Given the description of an element on the screen output the (x, y) to click on. 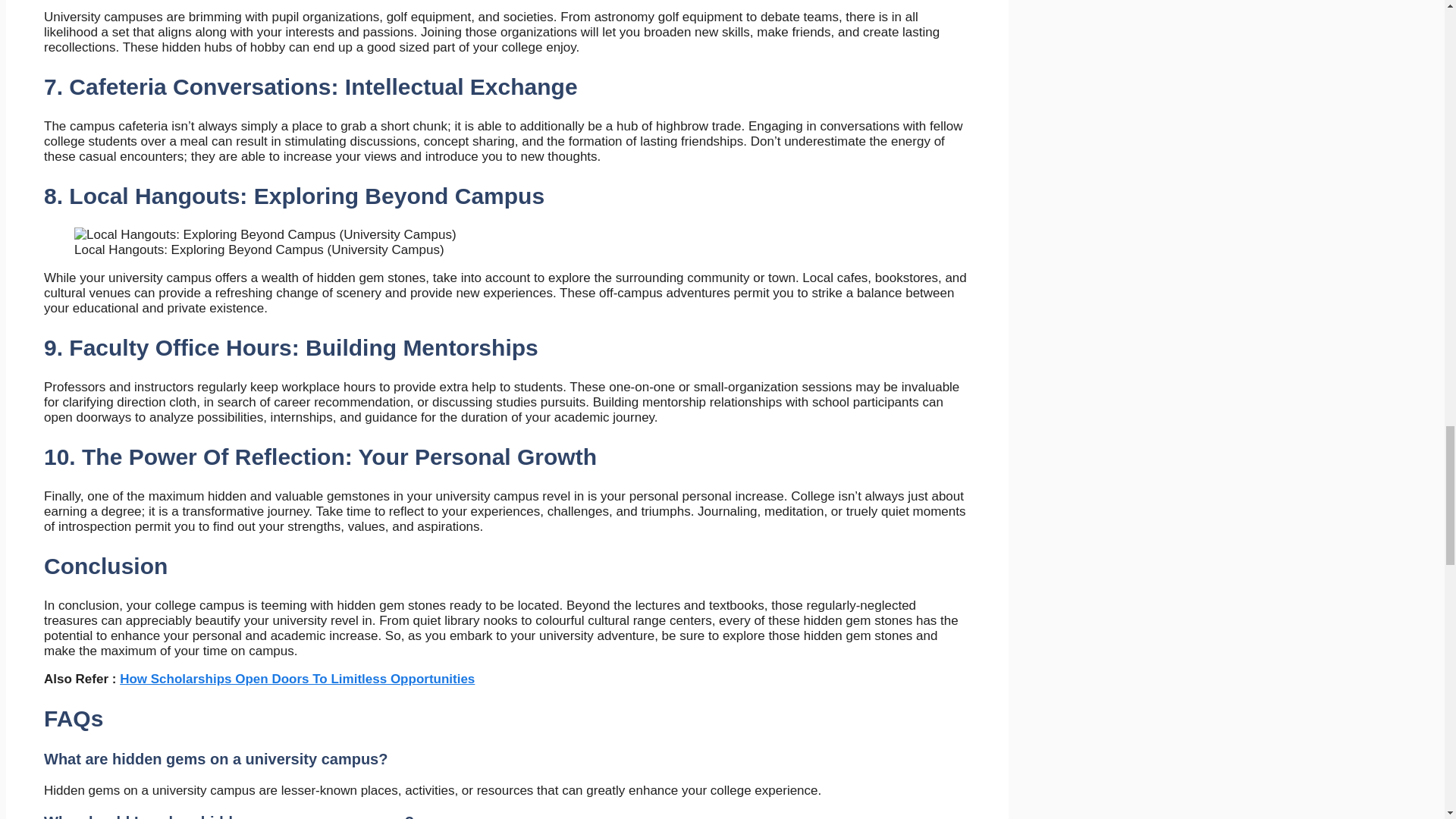
How Scholarships Open Doors To Limitless Opportunities (296, 678)
